Given the description of an element on the screen output the (x, y) to click on. 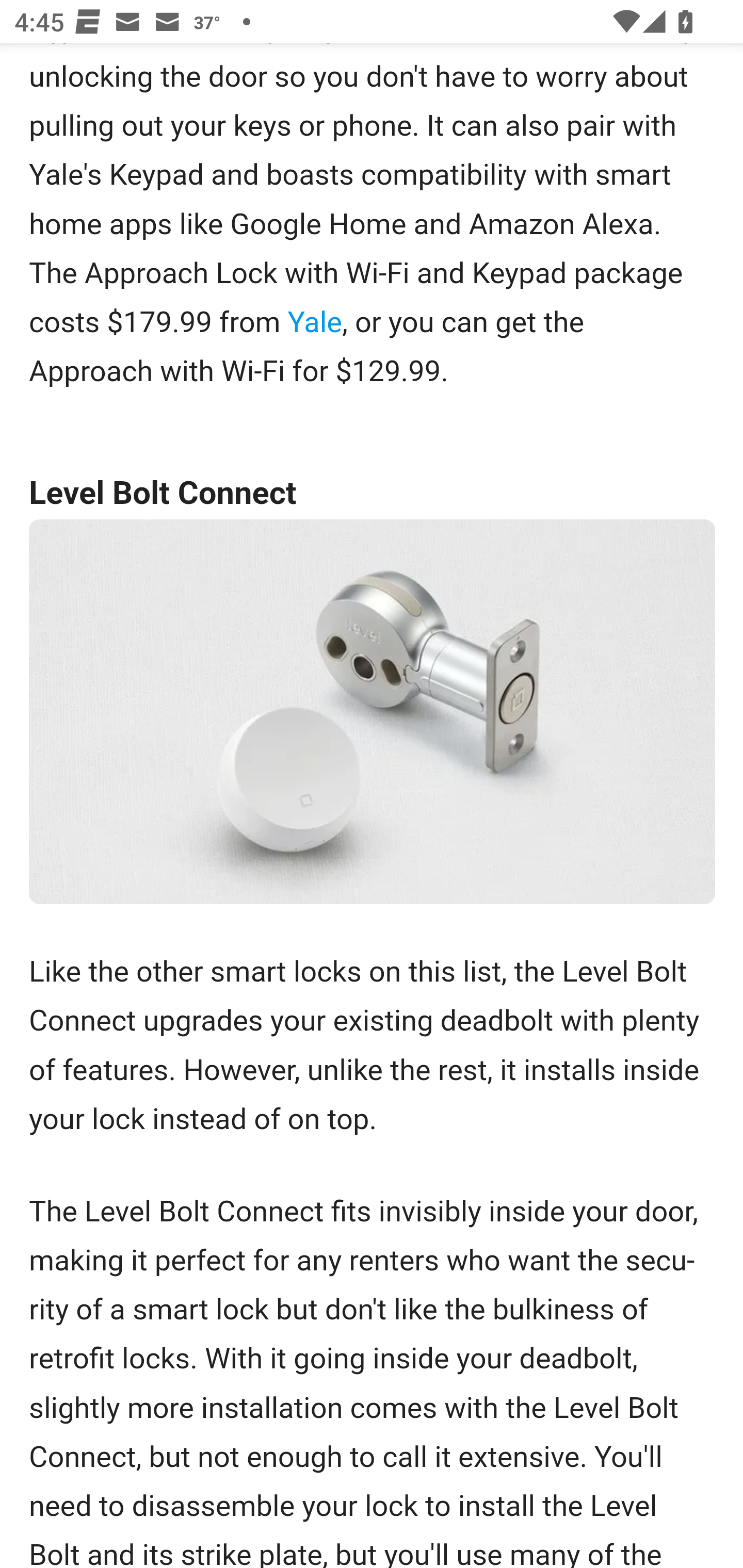
Yale (314, 322)
